Given the description of an element on the screen output the (x, y) to click on. 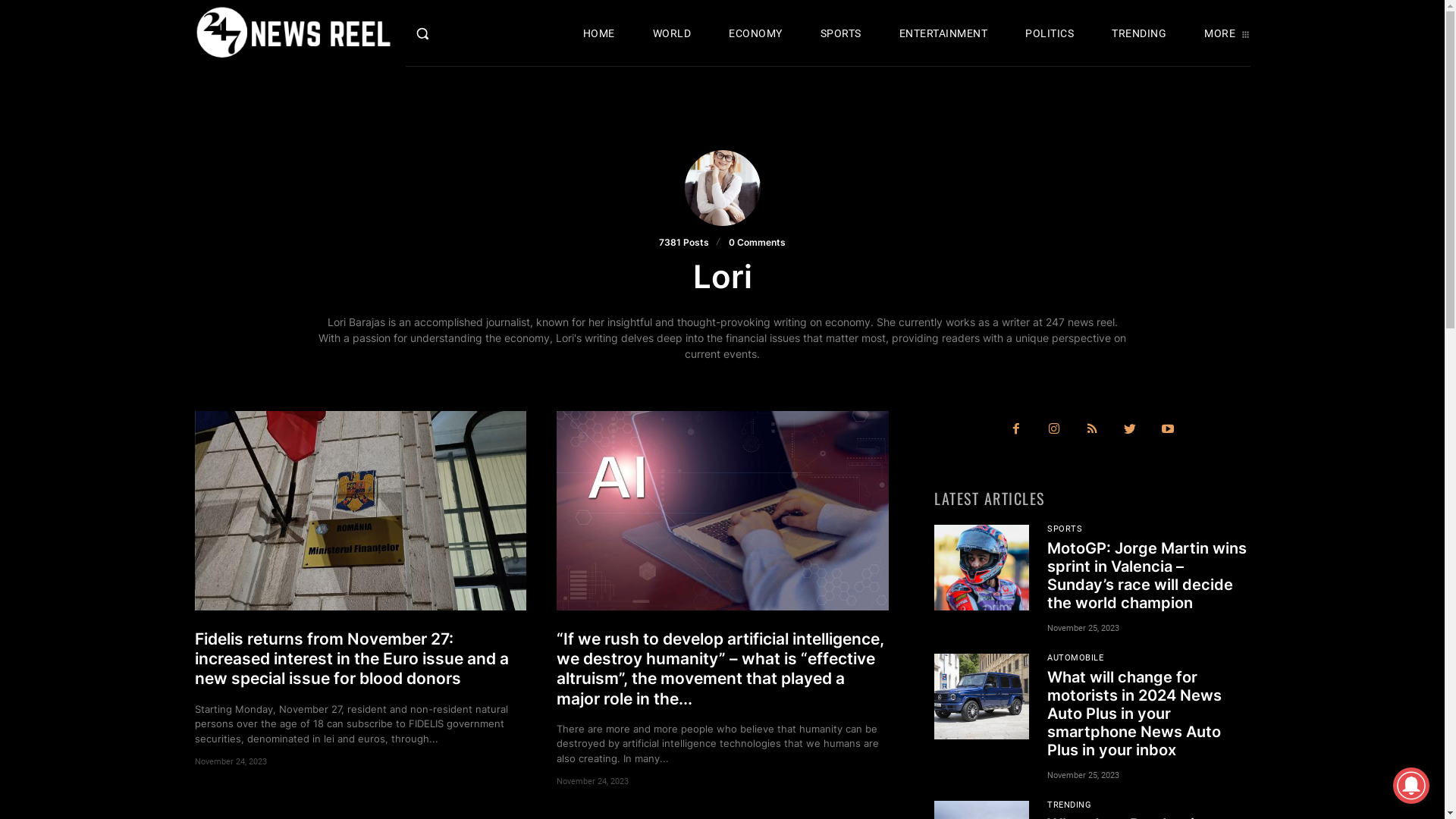
SPORTS Element type: text (1064, 528)
ECONOMY Element type: text (755, 33)
HOME Element type: text (599, 33)
Twitter Element type: hover (1129, 429)
Facebook Element type: hover (1016, 429)
POLITICS Element type: text (1049, 33)
Instagram Element type: hover (1053, 429)
AUTOMOBILE Element type: text (1075, 657)
TRENDING Element type: text (1069, 804)
SPORTS Element type: text (840, 33)
Youtube Element type: hover (1167, 429)
RSS Element type: hover (1091, 429)
ENTERTAINMENT Element type: text (943, 33)
TRENDING Element type: text (1138, 33)
WORLD Element type: text (671, 33)
